Given the description of an element on the screen output the (x, y) to click on. 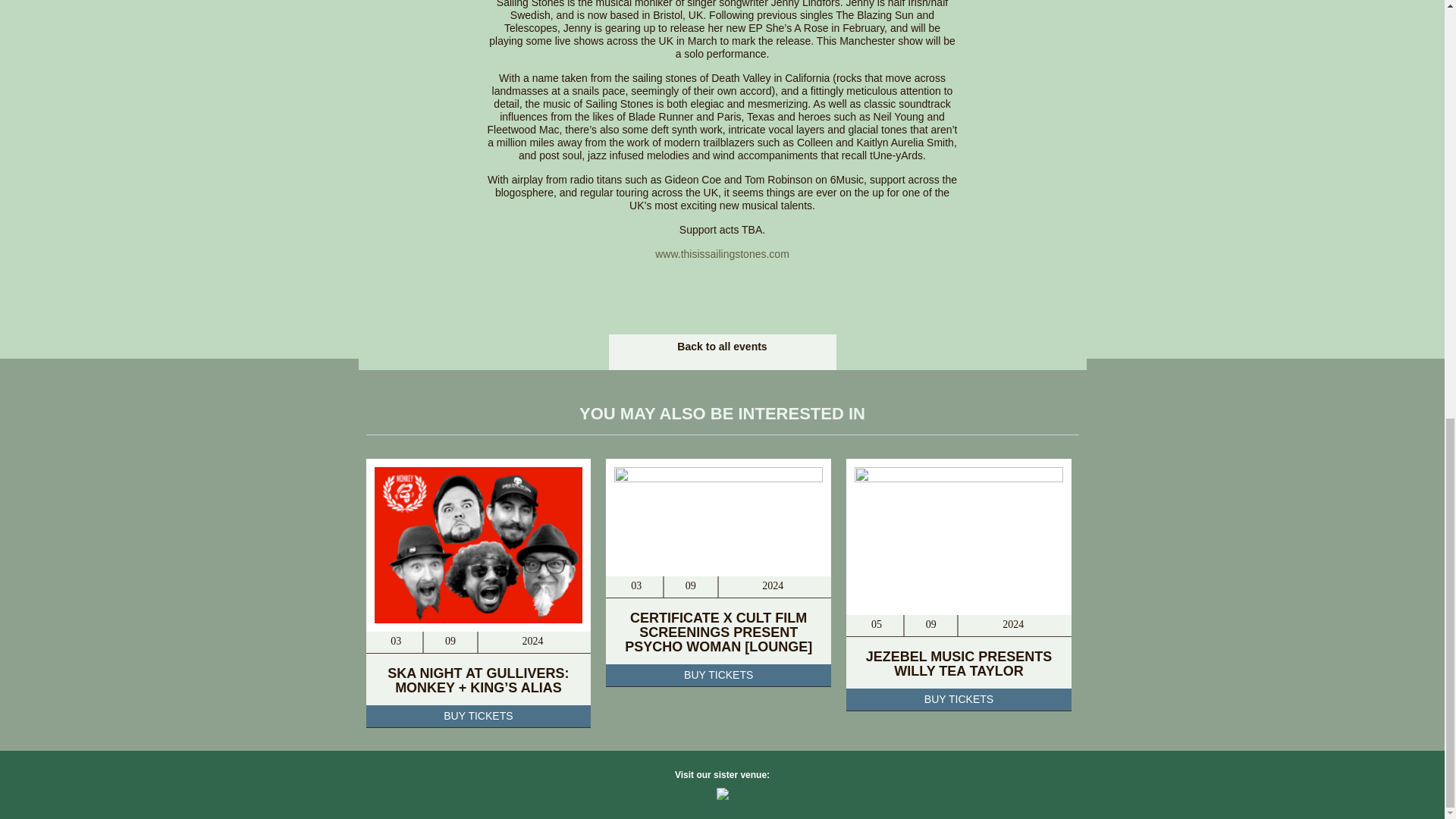
BUY TICKETS (478, 716)
Back to all events (722, 346)
BUY TICKETS (958, 699)
www.thisissailingstones.com (722, 254)
BUY TICKETS (718, 675)
JEZEBEL MUSIC PRESENTS WILLY TEA TAYLOR (959, 663)
